Given the description of an element on the screen output the (x, y) to click on. 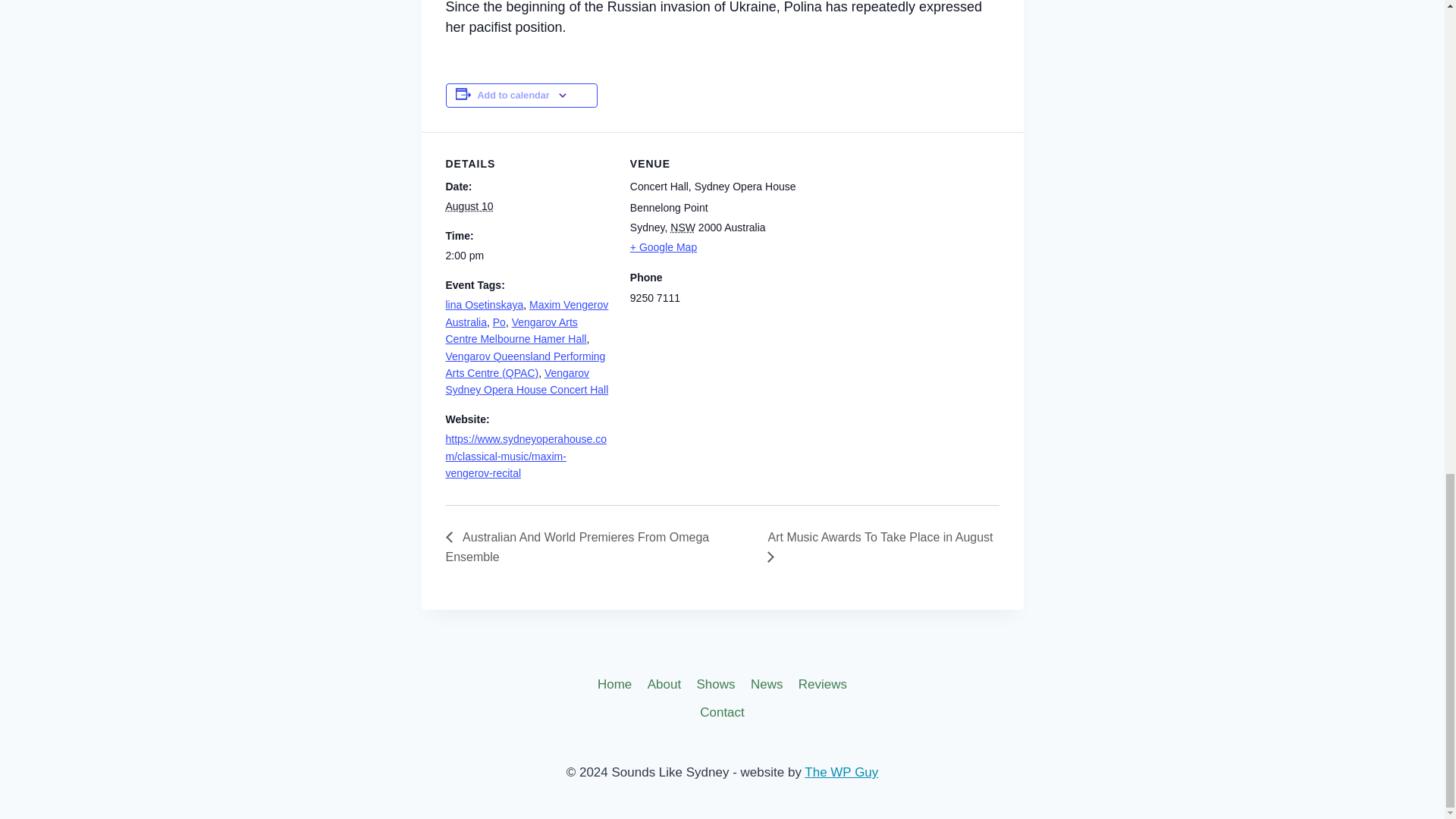
Art Music Awards To Take Place in August (876, 547)
Reviews (823, 684)
The WP Guy (841, 771)
Australian And World Premieres From Omega Ensemble (577, 547)
Add to calendar (513, 95)
lina Osetinskaya (484, 304)
NSW (682, 227)
Click to view a Google Map (713, 247)
About (664, 684)
Po (499, 322)
News (766, 684)
Maxim Vengerov Australia (526, 312)
Shows (715, 684)
Vengarov Sydney Opera House Concert Hall (526, 380)
